Given the description of an element on the screen output the (x, y) to click on. 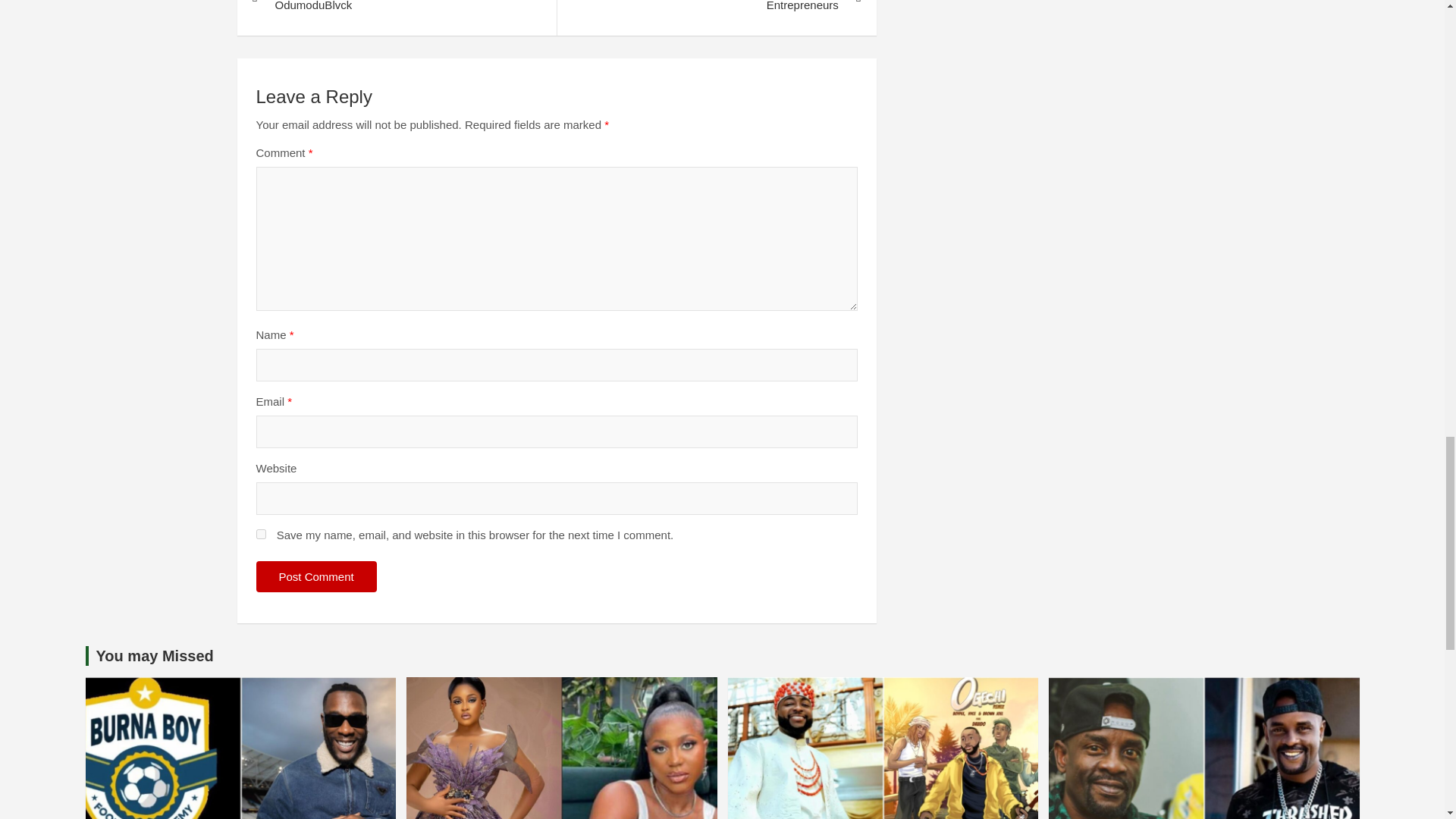
Post Comment (316, 576)
Post Comment (316, 576)
yes (261, 533)
